Given the description of an element on the screen output the (x, y) to click on. 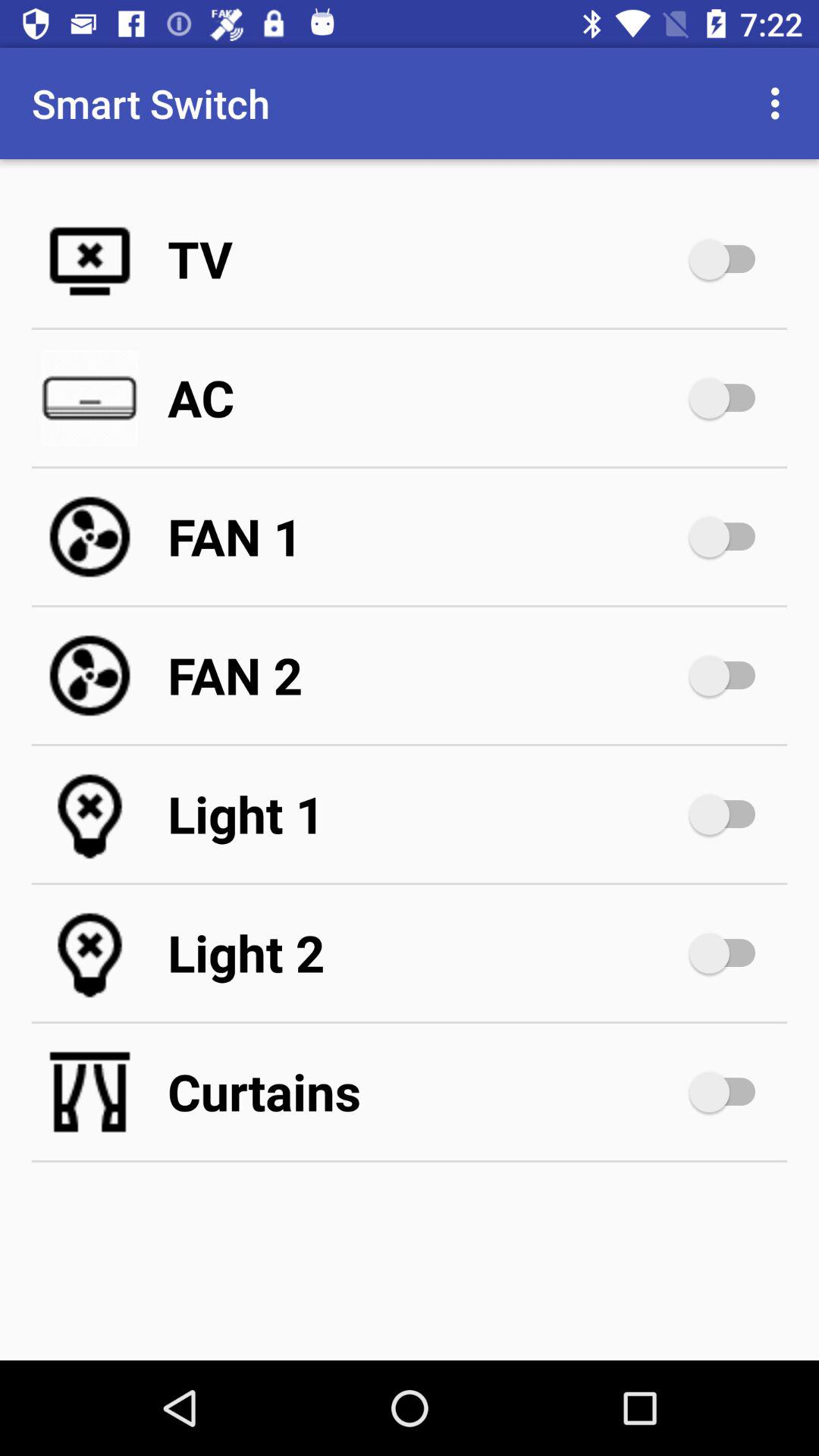
flip to the light 2 (424, 953)
